Given the description of an element on the screen output the (x, y) to click on. 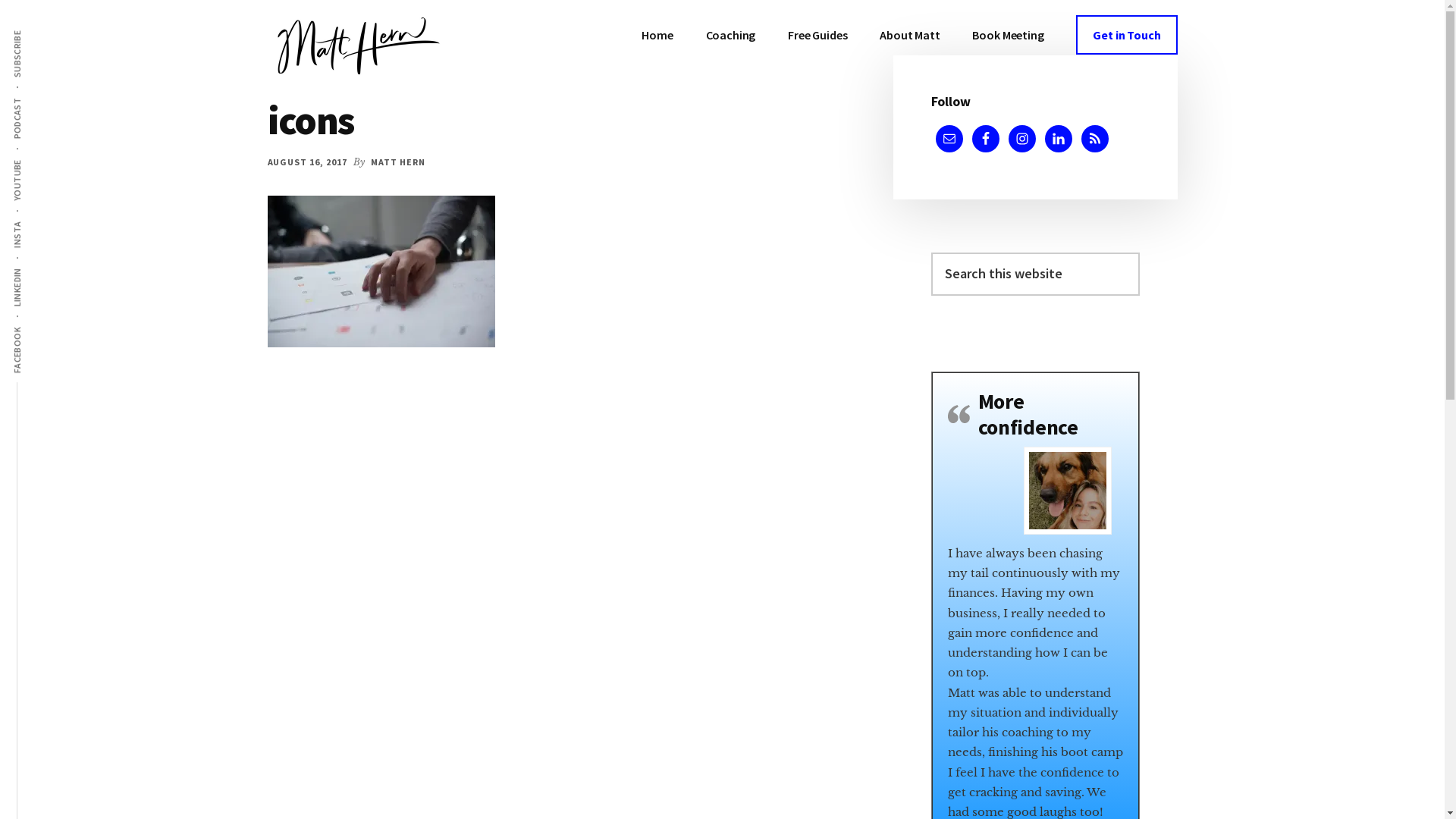
Coaching Element type: text (730, 34)
Free Guides Element type: text (817, 34)
INSTA Element type: text (31, 220)
Book Meeting Element type: text (1007, 34)
Home Element type: text (656, 34)
LINKEDIN Element type: text (37, 267)
YOUTUBE Element type: text (39, 158)
Search Element type: text (1139, 251)
Get in Touch Element type: text (1126, 34)
About Matt Element type: text (909, 34)
FACEBOOK Element type: text (41, 325)
PODCAST Element type: text (39, 96)
Skip to main content Element type: text (0, 0)
SUBSCRIBE Element type: text (41, 29)
